Given the description of an element on the screen output the (x, y) to click on. 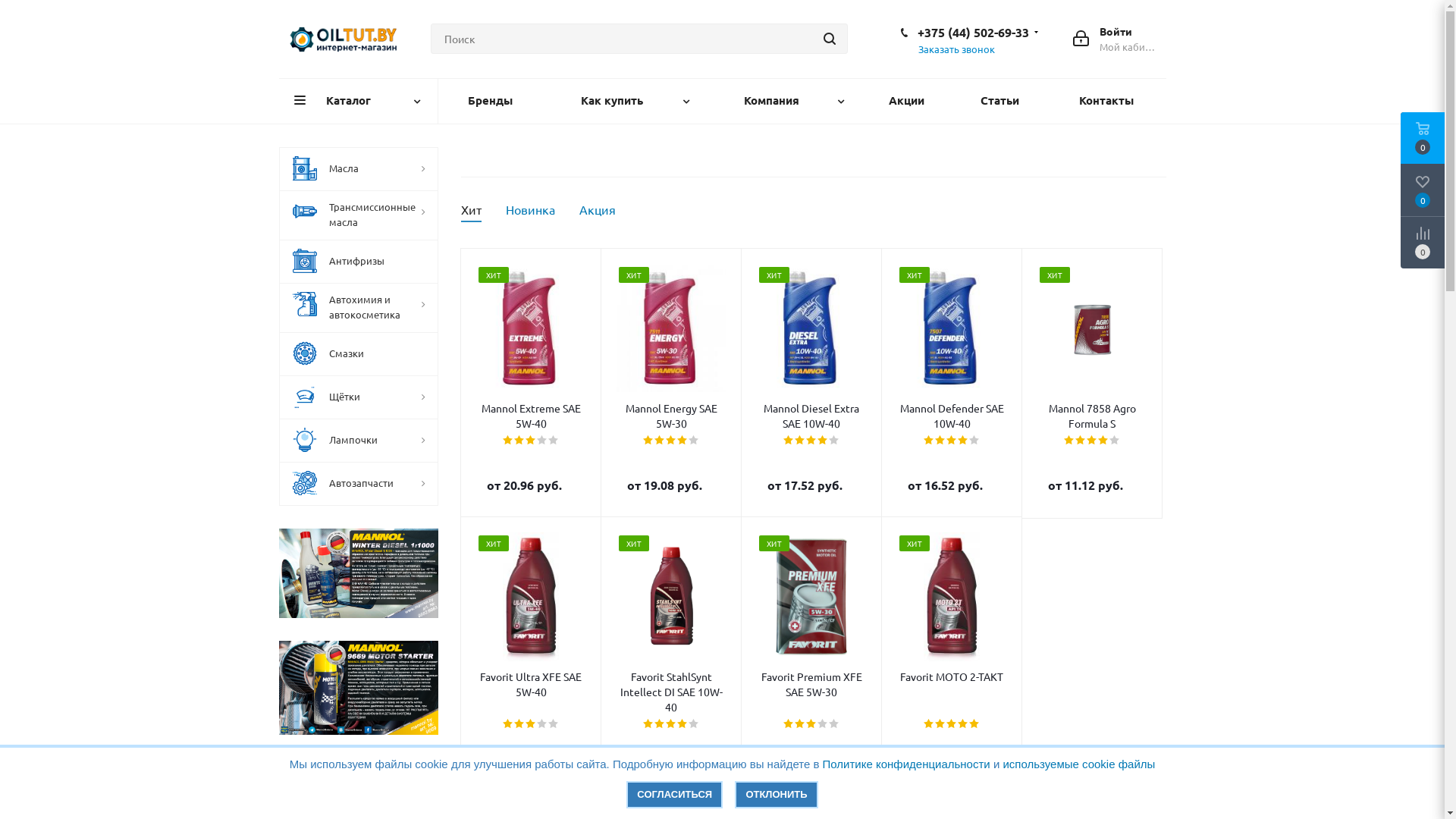
3 Element type: hover (671, 723)
1 Element type: hover (507, 723)
2 Element type: hover (1080, 440)
2 Element type: hover (800, 440)
2 Element type: hover (939, 440)
1 Element type: hover (507, 440)
5 Element type: hover (974, 440)
1 Element type: hover (787, 440)
Mannol Defender SAE 10W-40 Element type: hover (950, 327)
4 Element type: hover (681, 440)
Mannol 7858 Agro Formula S Element type: hover (1092, 327)
Mannol Extreme SAE 5W-40 Element type: text (531, 415)
5 Element type: hover (693, 723)
5 Element type: hover (833, 723)
5 Element type: hover (552, 440)
5 Element type: hover (693, 440)
Mannol Diesel Extra SAE 10W-40 Element type: text (811, 415)
3 Element type: hover (951, 440)
1 Element type: hover (787, 723)
2 Element type: hover (519, 440)
2 Element type: hover (659, 723)
4 Element type: hover (1103, 440)
5 Element type: hover (833, 440)
3 Element type: hover (530, 440)
4 Element type: hover (542, 440)
4 Element type: hover (542, 723)
Mannol 7858 Agro Formula S Element type: text (1092, 415)
4 Element type: hover (962, 440)
Favorit Ultra XFE SAE 5W-40 Element type: hover (530, 596)
4 Element type: hover (822, 723)
5 Element type: hover (974, 723)
Favorit StahlSynt Intellect DI SAE 10W-40 Element type: hover (670, 596)
Mannol Defender SAE 10W-40 Element type: text (951, 415)
2 Element type: hover (519, 723)
Favorit StahlSynt Intellect DI SAE 10W-40 Element type: text (670, 691)
3 Element type: hover (810, 440)
Favorit Ultra XFE SAE 5W-40 Element type: text (531, 683)
2 Element type: hover (939, 723)
3 Element type: hover (951, 723)
1 Element type: hover (929, 440)
Favorit  MOTO 2-TAKT Element type: hover (951, 596)
Mannol Extreme SAE 5W-40 Element type: hover (530, 327)
3 Element type: hover (1091, 440)
Favorit MOTO 2-TAKT Element type: text (951, 676)
Mannol Diesel Extra SAE 10W-40 Element type: hover (810, 327)
+375 (44) 502-69-33 Element type: text (973, 32)
4 Element type: hover (962, 723)
4 Element type: hover (681, 723)
Mannol Energy SAE 5W-30 Element type: hover (670, 328)
Mannol Energy SAE 5W-30 Element type: text (670, 415)
2 Element type: hover (659, 440)
1 Element type: hover (648, 440)
Favorit Premium XFE SAE 5W-30 Element type: hover (810, 596)
1 Element type: hover (929, 723)
3 Element type: hover (810, 723)
5 Element type: hover (552, 723)
4 Element type: hover (822, 440)
1 Element type: hover (1068, 440)
3 Element type: hover (530, 723)
Favorit Premium XFE SAE 5W-30 Element type: text (811, 683)
3 Element type: hover (671, 440)
5 Element type: hover (1114, 440)
1 Element type: hover (648, 723)
2 Element type: hover (800, 723)
